Given the description of an element on the screen output the (x, y) to click on. 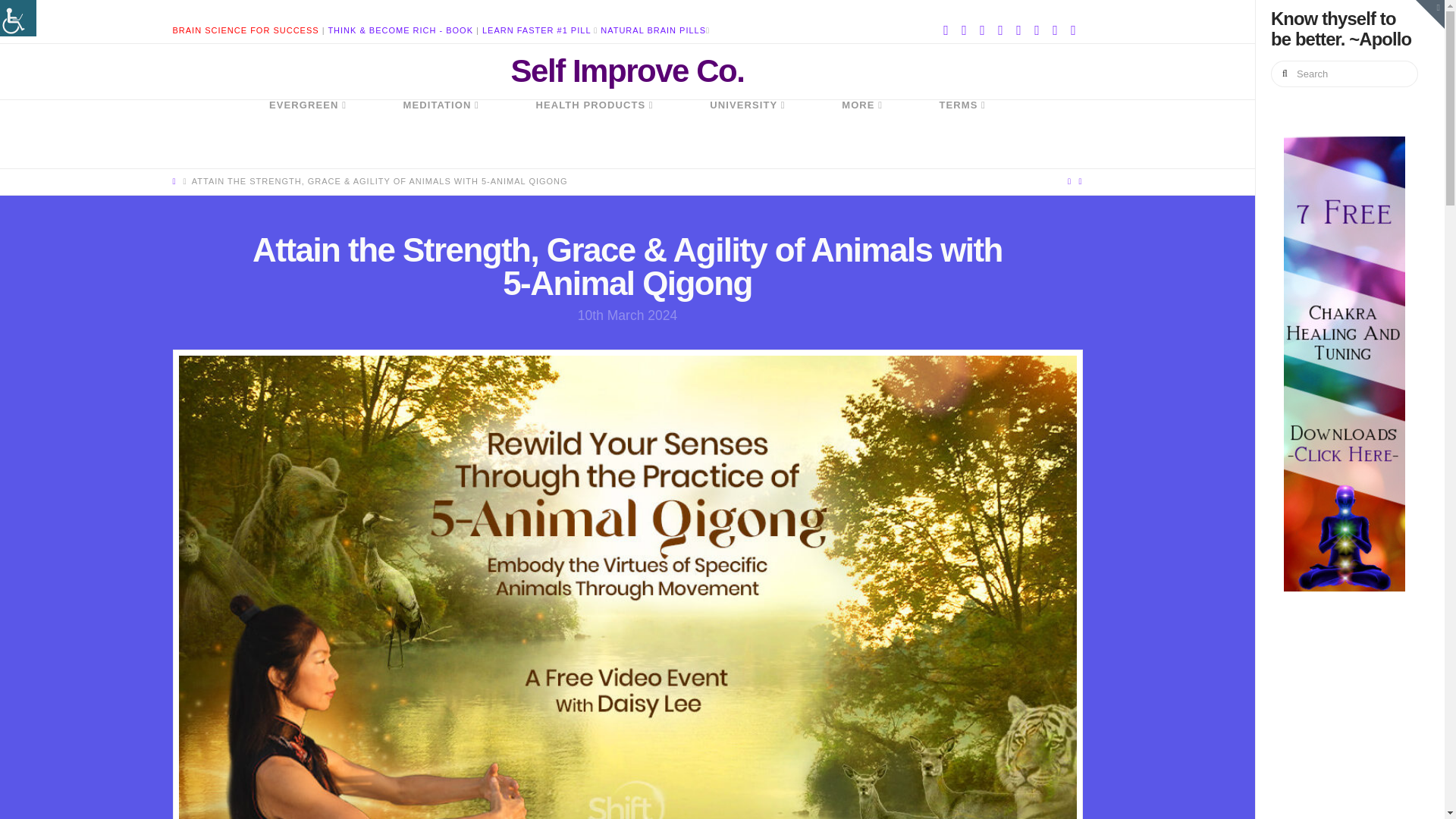
Self Improve Co. (627, 70)
EVERGREEN (307, 133)
BRAIN SCIENCE FOR SUCCESS (245, 30)
Know Thyself to become better! (627, 70)
Brain Science for Success (245, 30)
NATURAL BRAIN PILLS (652, 30)
MEDITATION (440, 133)
